Given the description of an element on the screen output the (x, y) to click on. 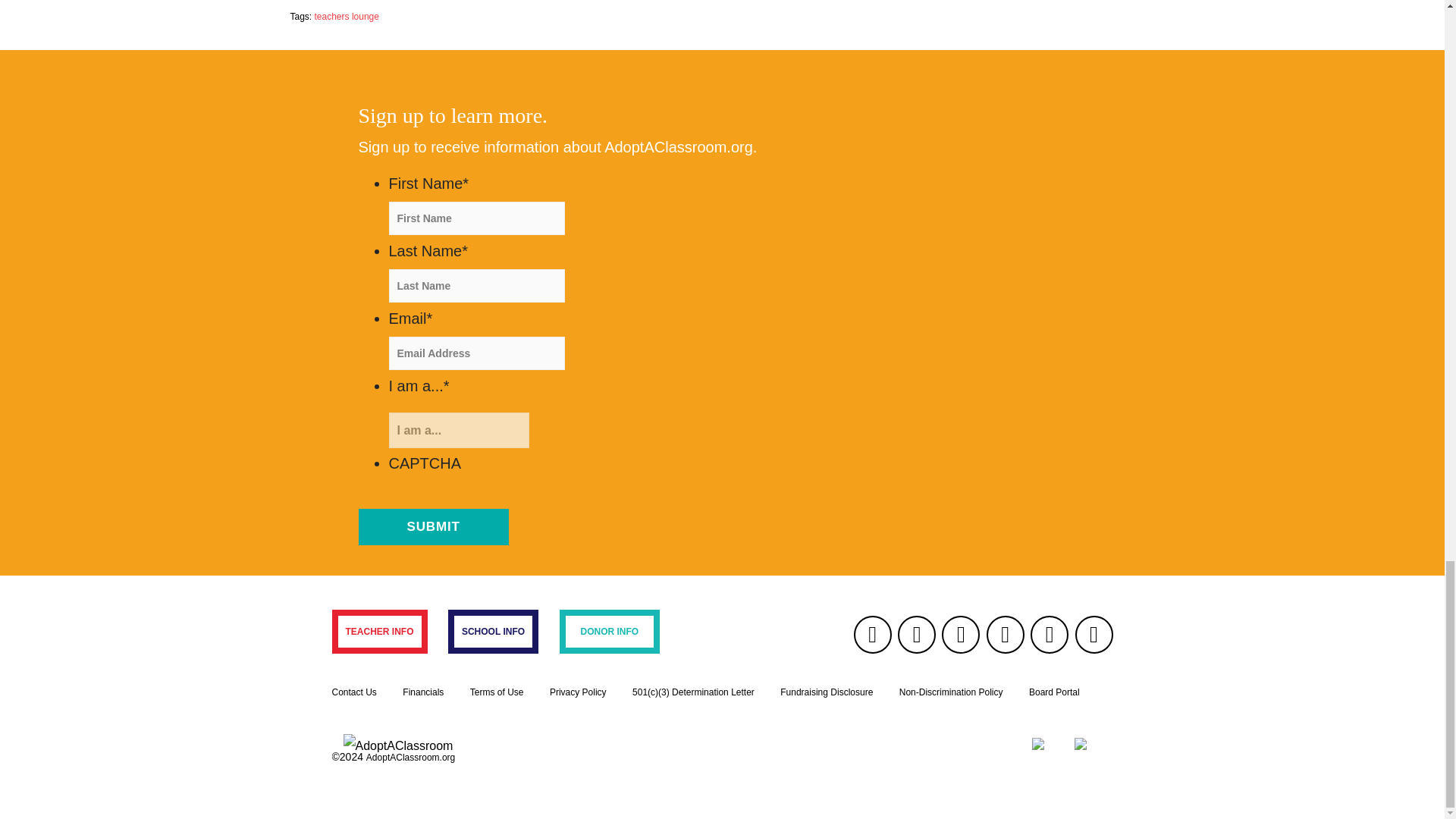
Submit (433, 526)
TEACHER INFO (379, 631)
teachers lounge (346, 16)
SCHOOL INFO (493, 631)
Submit (433, 526)
